Given the description of an element on the screen output the (x, y) to click on. 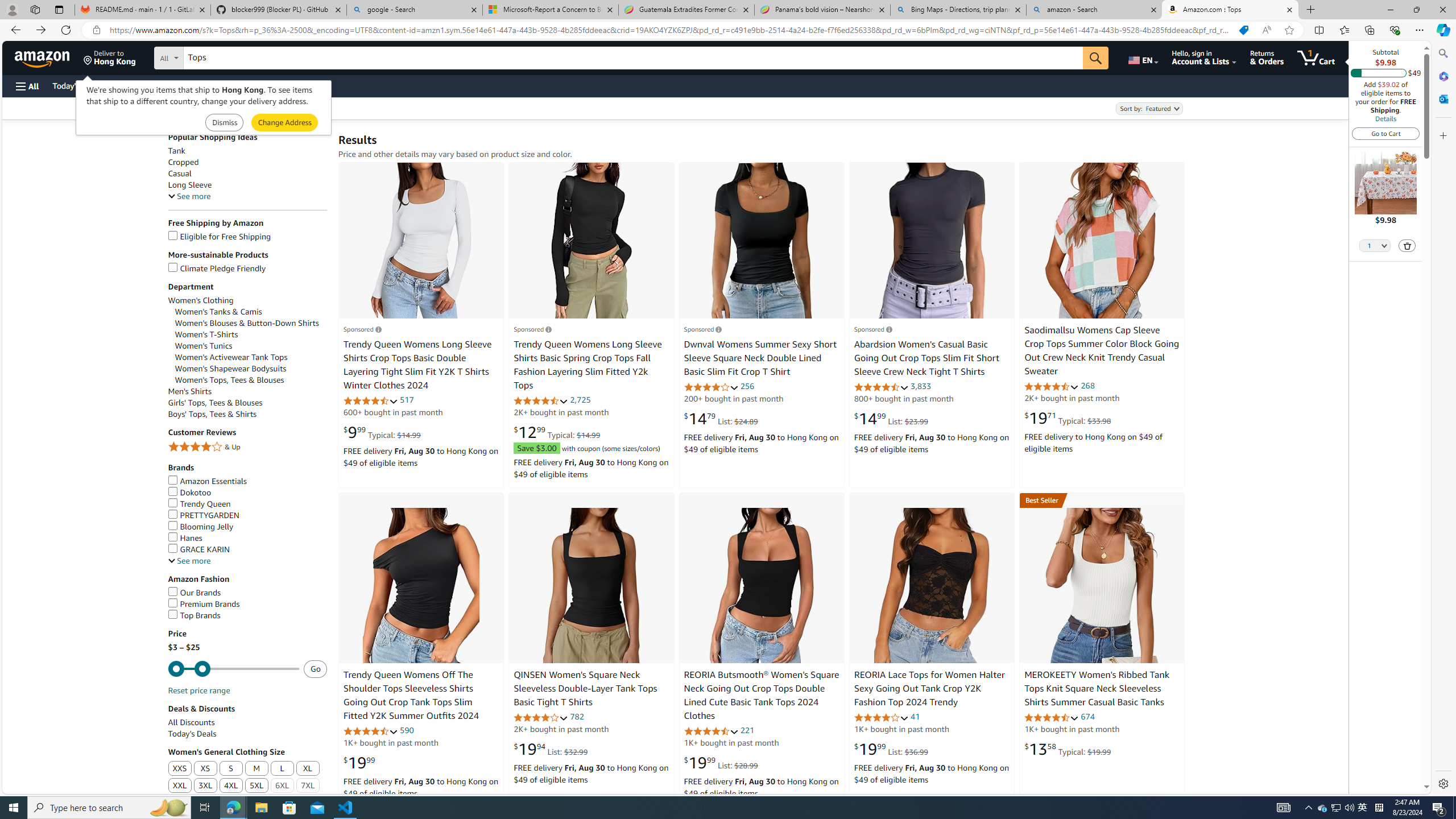
All Discounts (191, 722)
Climate Pledge Friendly (216, 268)
$13.58 Typical: $19.99 (1067, 748)
4.3 out of 5 stars (370, 730)
$14.79 List: $24.89 (721, 418)
Women's Tunics (203, 345)
Trendy Queen (199, 503)
4XL (230, 785)
XS (204, 769)
221 (746, 729)
See more, Brands (189, 560)
7XL (307, 786)
